Given the description of an element on the screen output the (x, y) to click on. 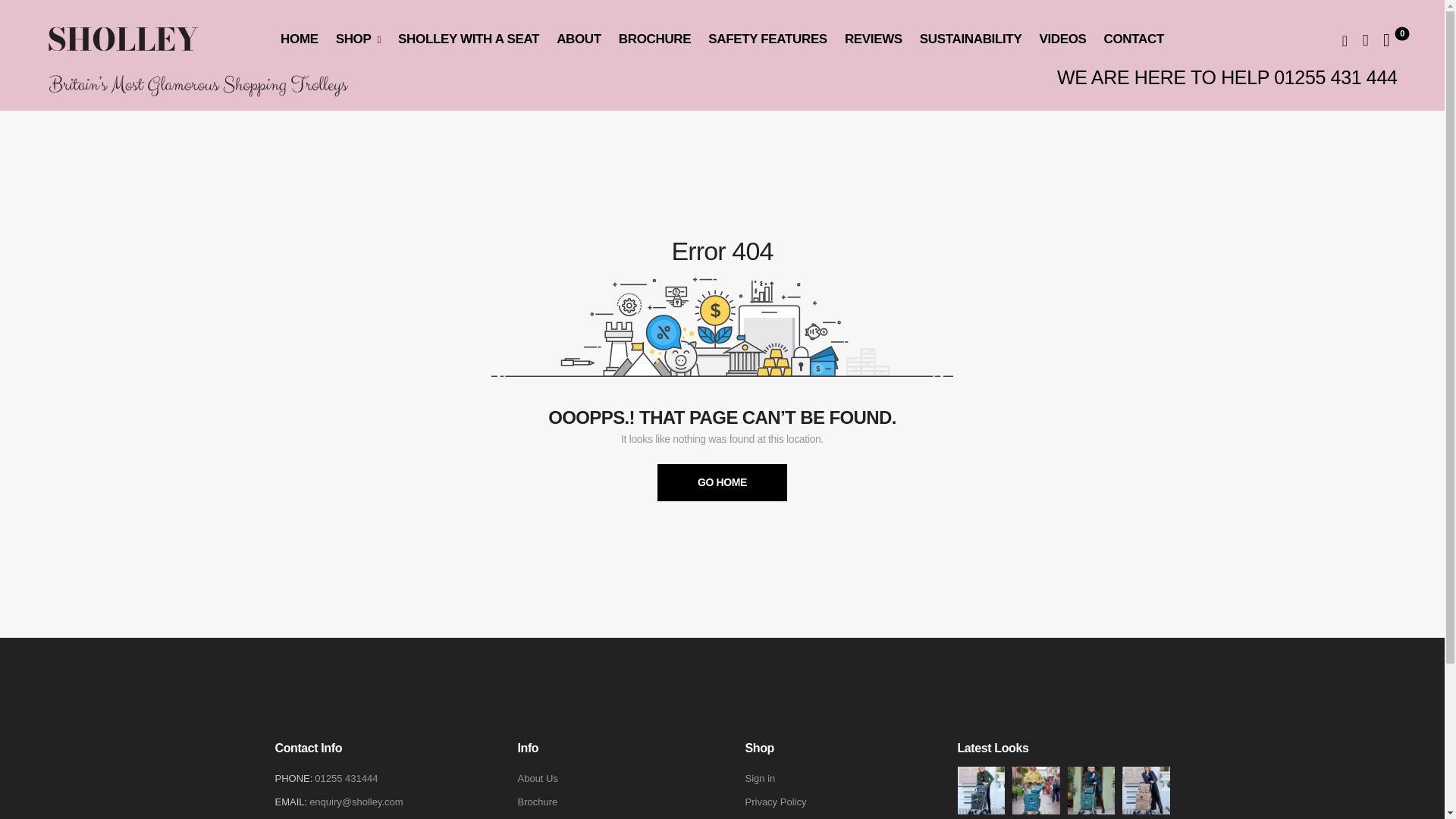
HOME (299, 39)
Brochure (536, 802)
ABOUT (578, 39)
SAFETY FEATURES (767, 39)
GO HOME (722, 482)
About Us (536, 778)
REVIEWS (873, 39)
SHOP (358, 39)
01255 431444 (345, 778)
CONTACT (1133, 39)
